Given the description of an element on the screen output the (x, y) to click on. 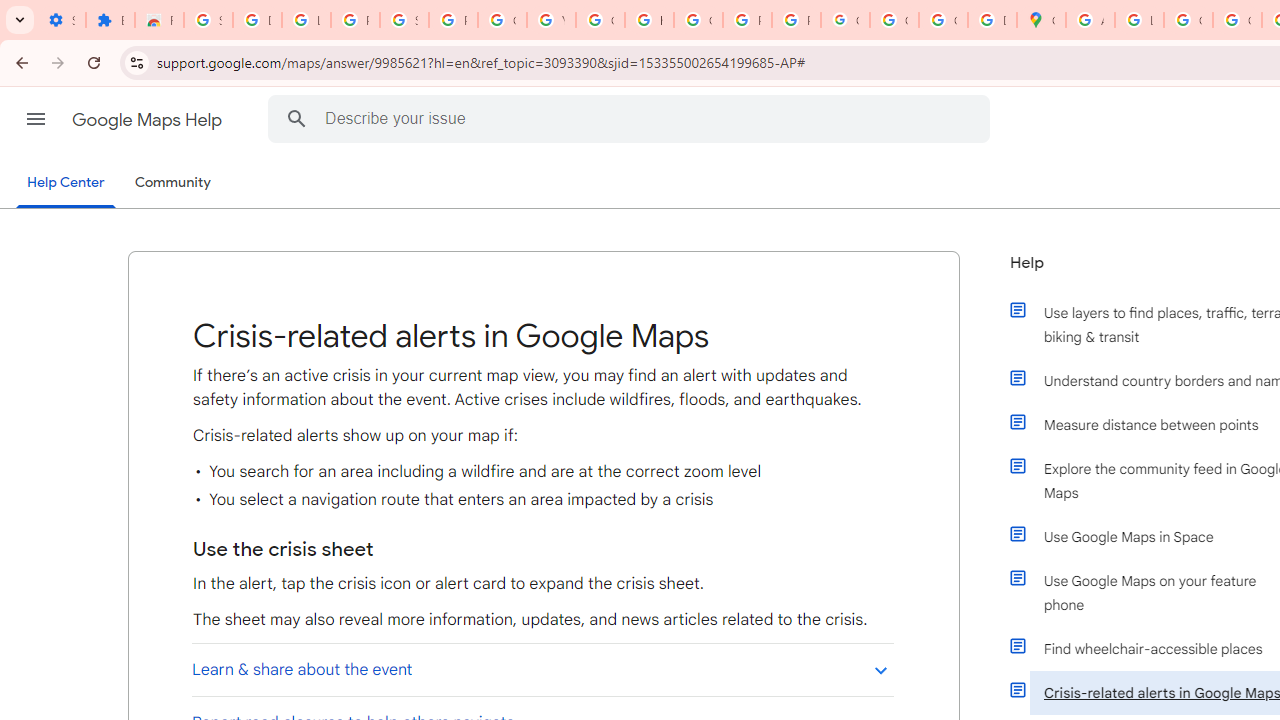
Help Center (65, 183)
Learn & share about the event (542, 669)
Main menu (35, 119)
Reviews: Helix Fruit Jump Arcade Game (159, 20)
Google Account (502, 20)
Sign in - Google Accounts (404, 20)
